Given the description of an element on the screen output the (x, y) to click on. 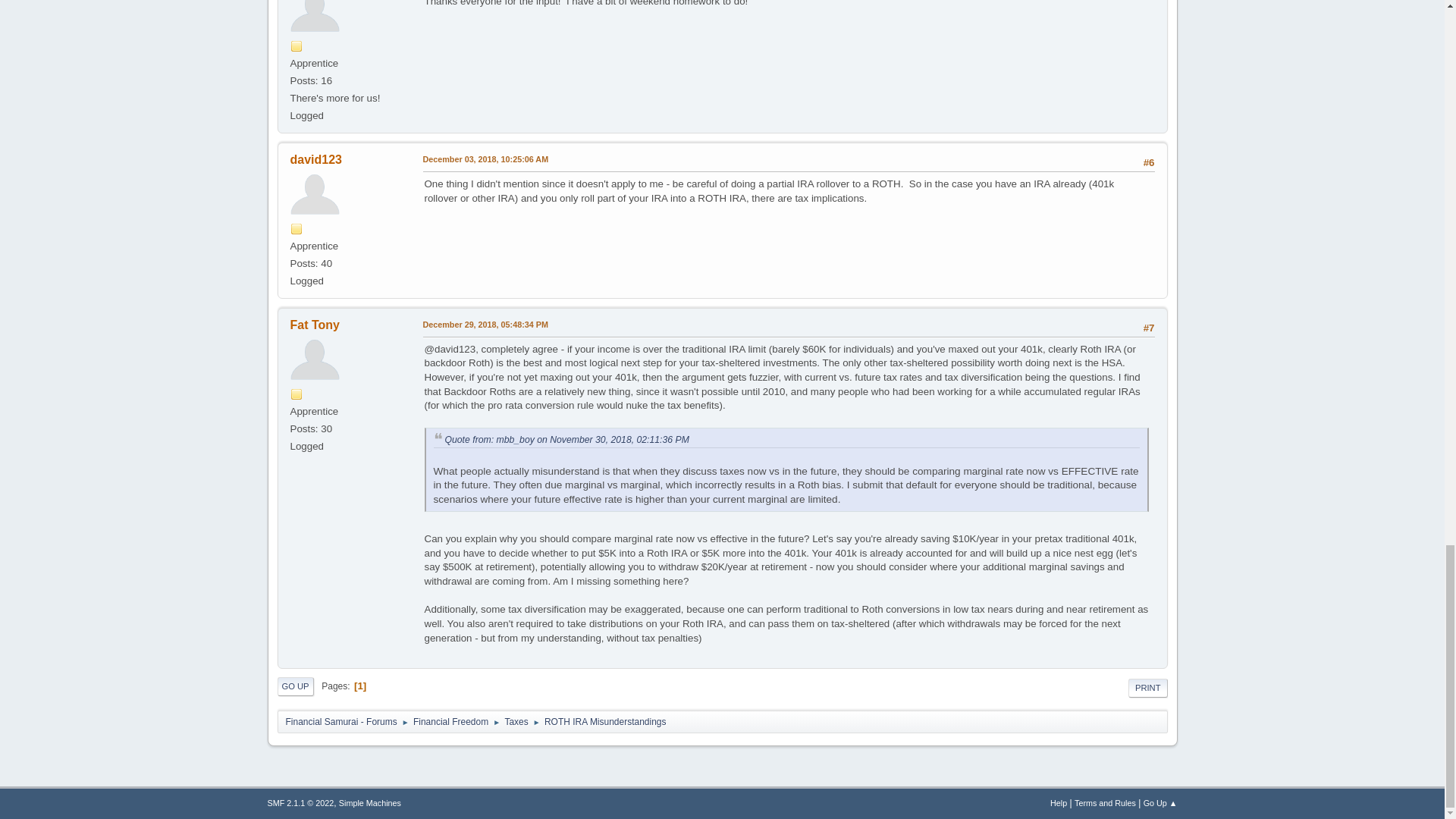
License (299, 802)
Simple Machines (370, 802)
View the profile of david123 (314, 159)
View the profile of Fat Tony (314, 324)
